Given the description of an element on the screen output the (x, y) to click on. 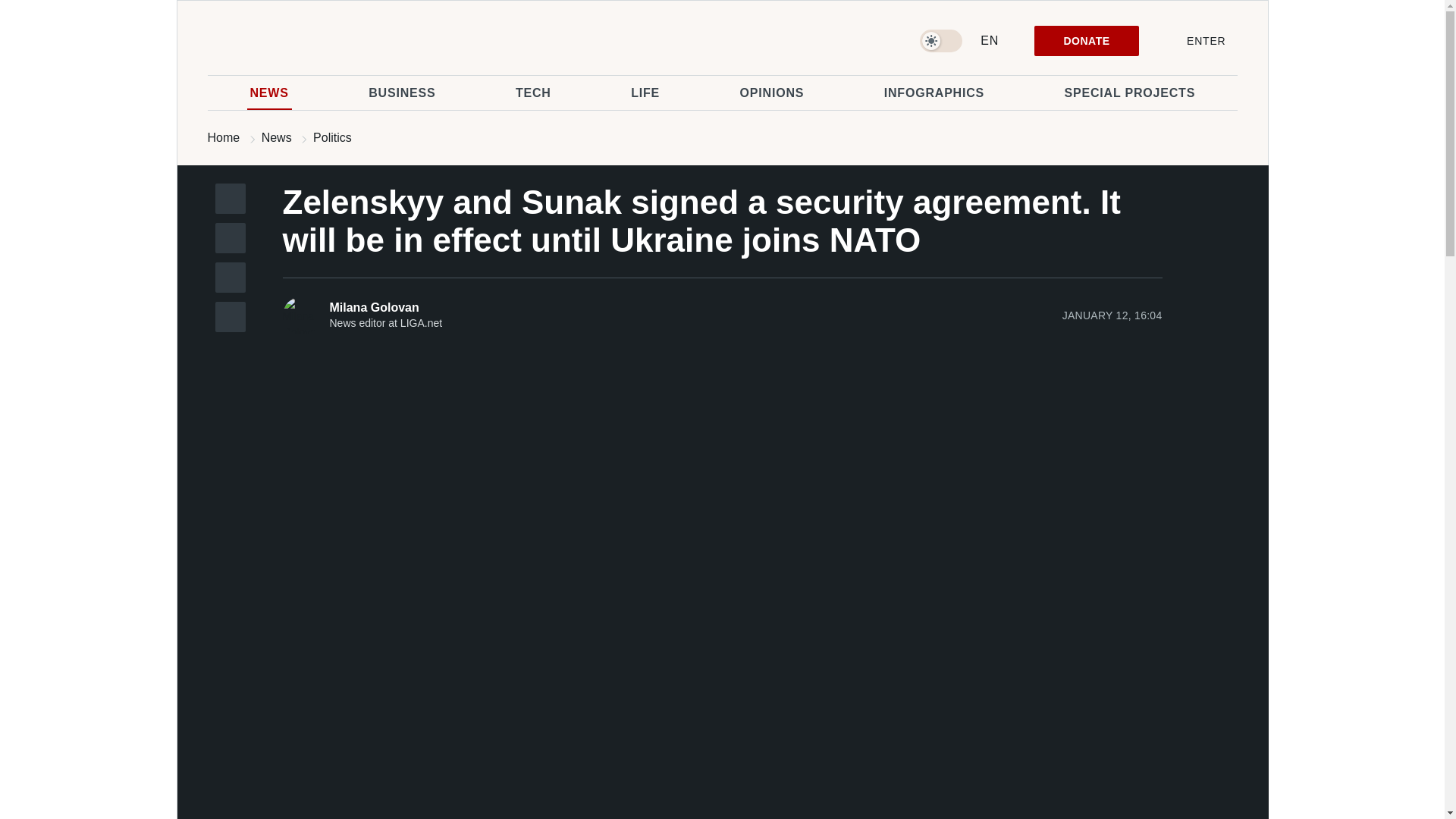
INFOGRAPHICS (933, 93)
DONATE (1085, 40)
BUSINESS (401, 93)
LIFE (644, 93)
NEWS (269, 93)
Milana Golovan (301, 315)
Politics (332, 137)
SPECIAL PROJECTS (1129, 93)
Milana Golovan (393, 307)
News (277, 137)
